Given the description of an element on the screen output the (x, y) to click on. 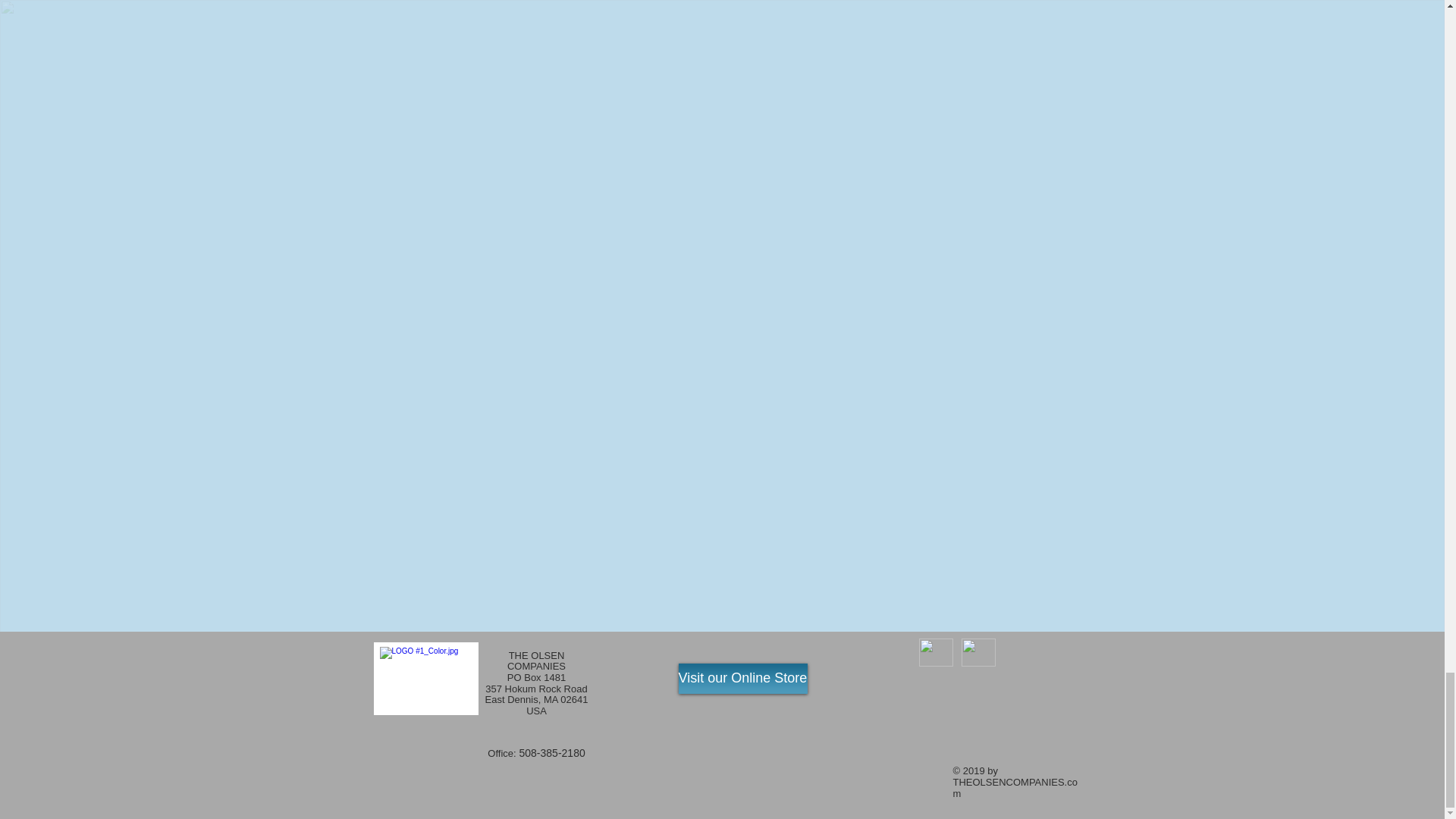
Visit our Online Store (742, 678)
